Given the description of an element on the screen output the (x, y) to click on. 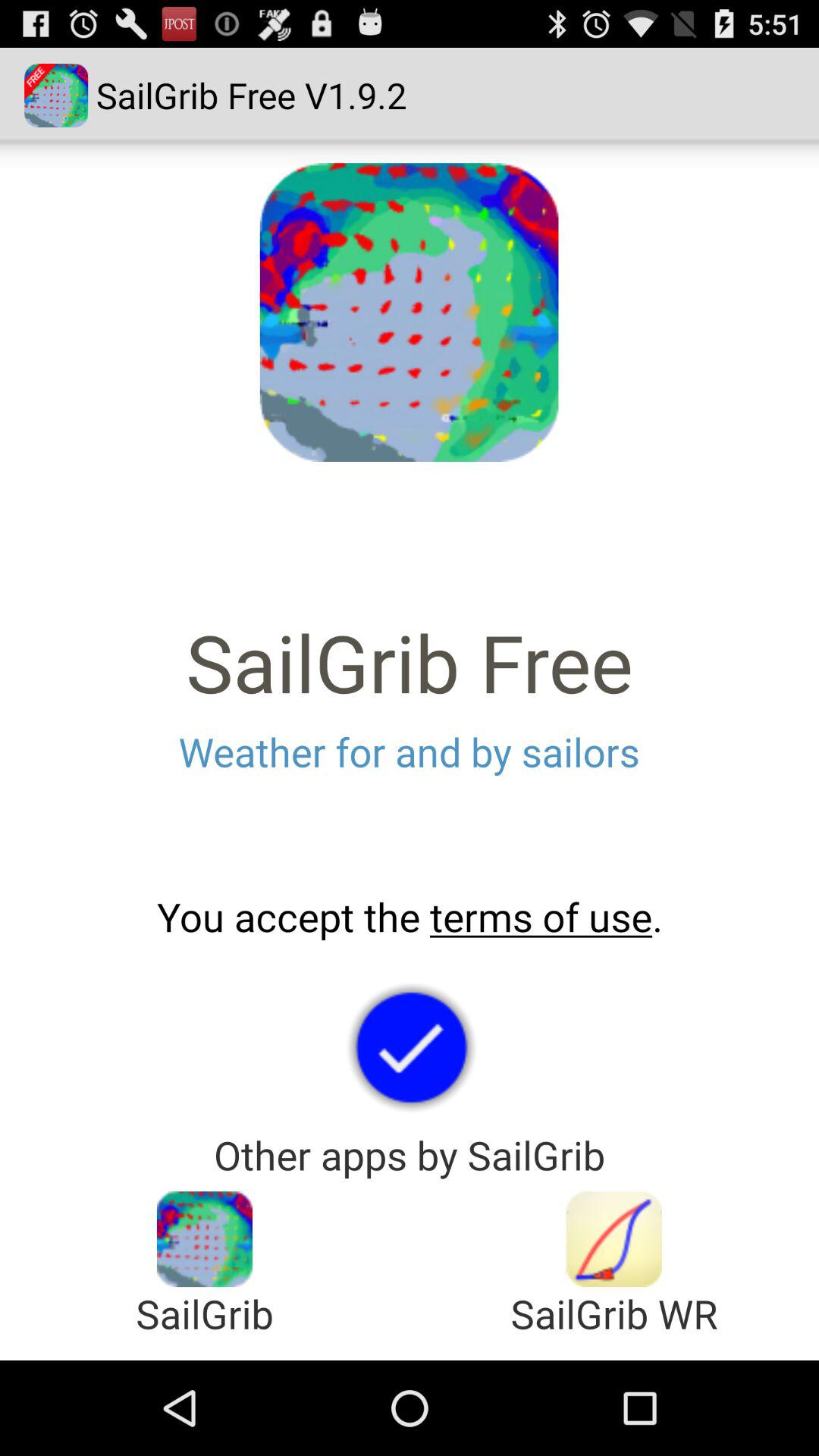
open app (204, 1239)
